Given the description of an element on the screen output the (x, y) to click on. 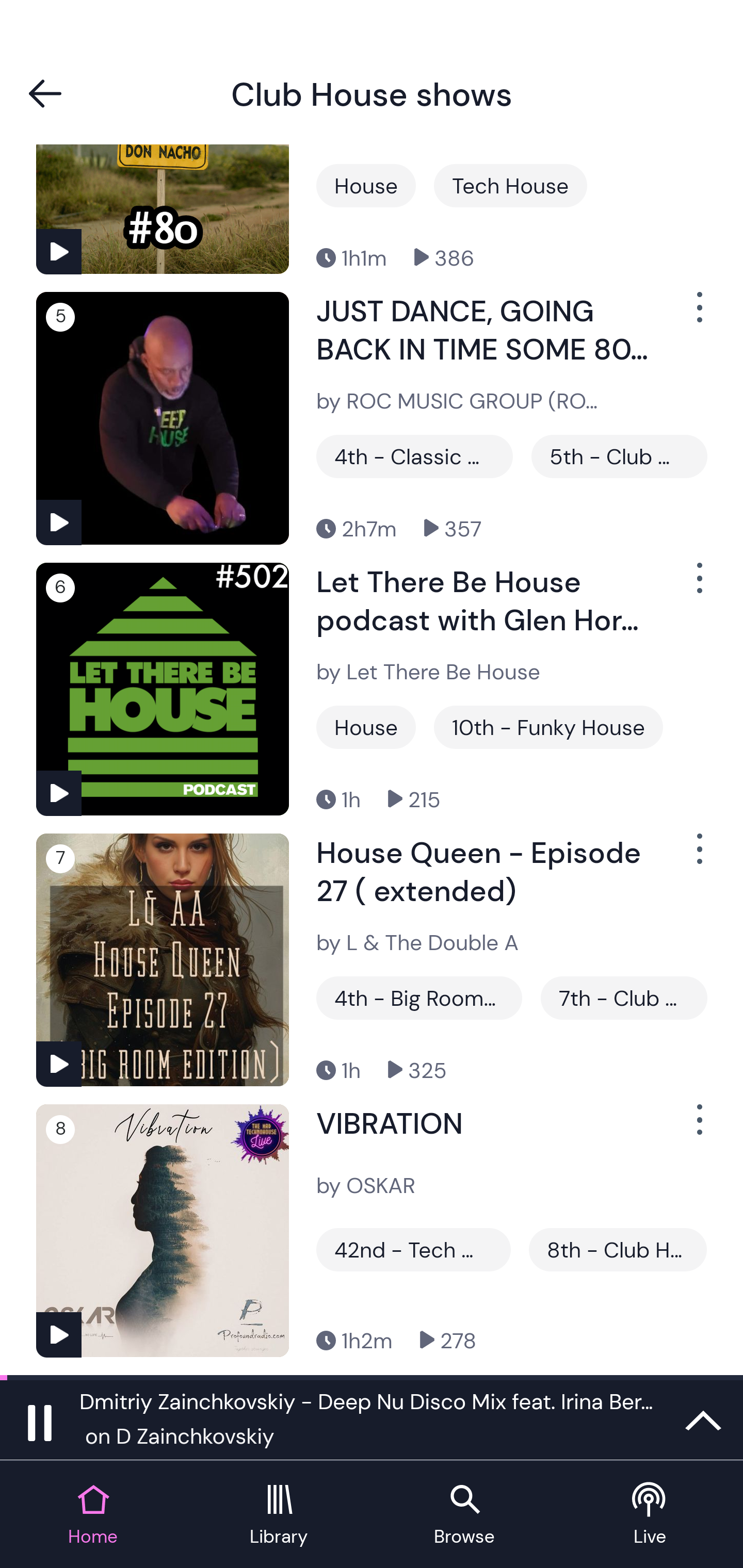
House (366, 185)
Tech House (509, 185)
Show Options Menu Button (697, 314)
4th - Classic House (414, 456)
5th - Club House (618, 456)
Show Options Menu Button (697, 585)
House (366, 727)
10th - Funky House (547, 727)
Show Options Menu Button (697, 857)
4th - Big Room House (419, 997)
7th - Club House (623, 997)
Show Options Menu Button (697, 1126)
42nd - Tech House (413, 1249)
8th - Club House (617, 1249)
Home tab Home (92, 1515)
Library tab Library (278, 1515)
Browse tab Browse (464, 1515)
Live tab Live (650, 1515)
